Given the description of an element on the screen output the (x, y) to click on. 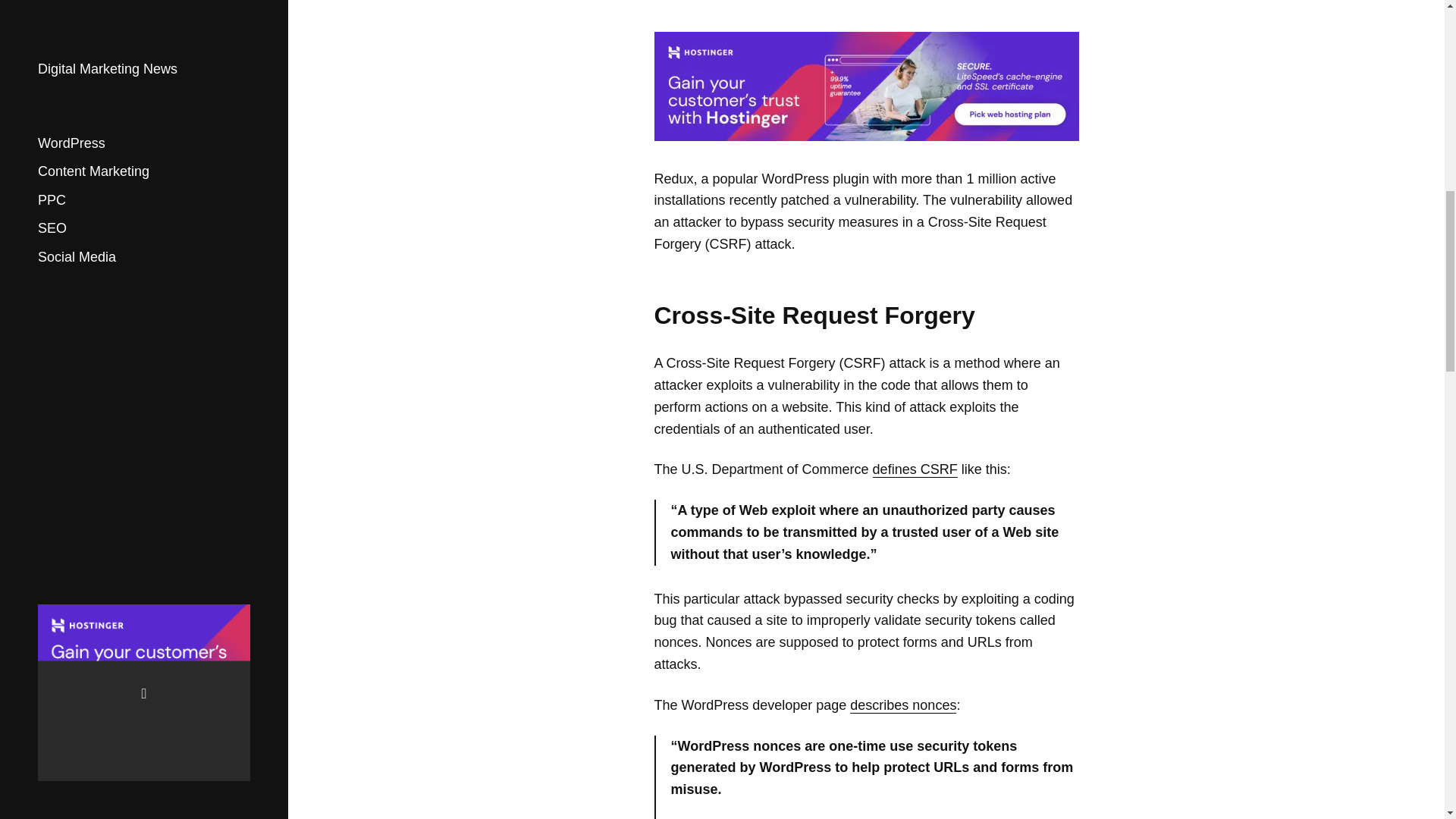
describes nonces (903, 705)
defines CSRF (915, 469)
